Given the description of an element on the screen output the (x, y) to click on. 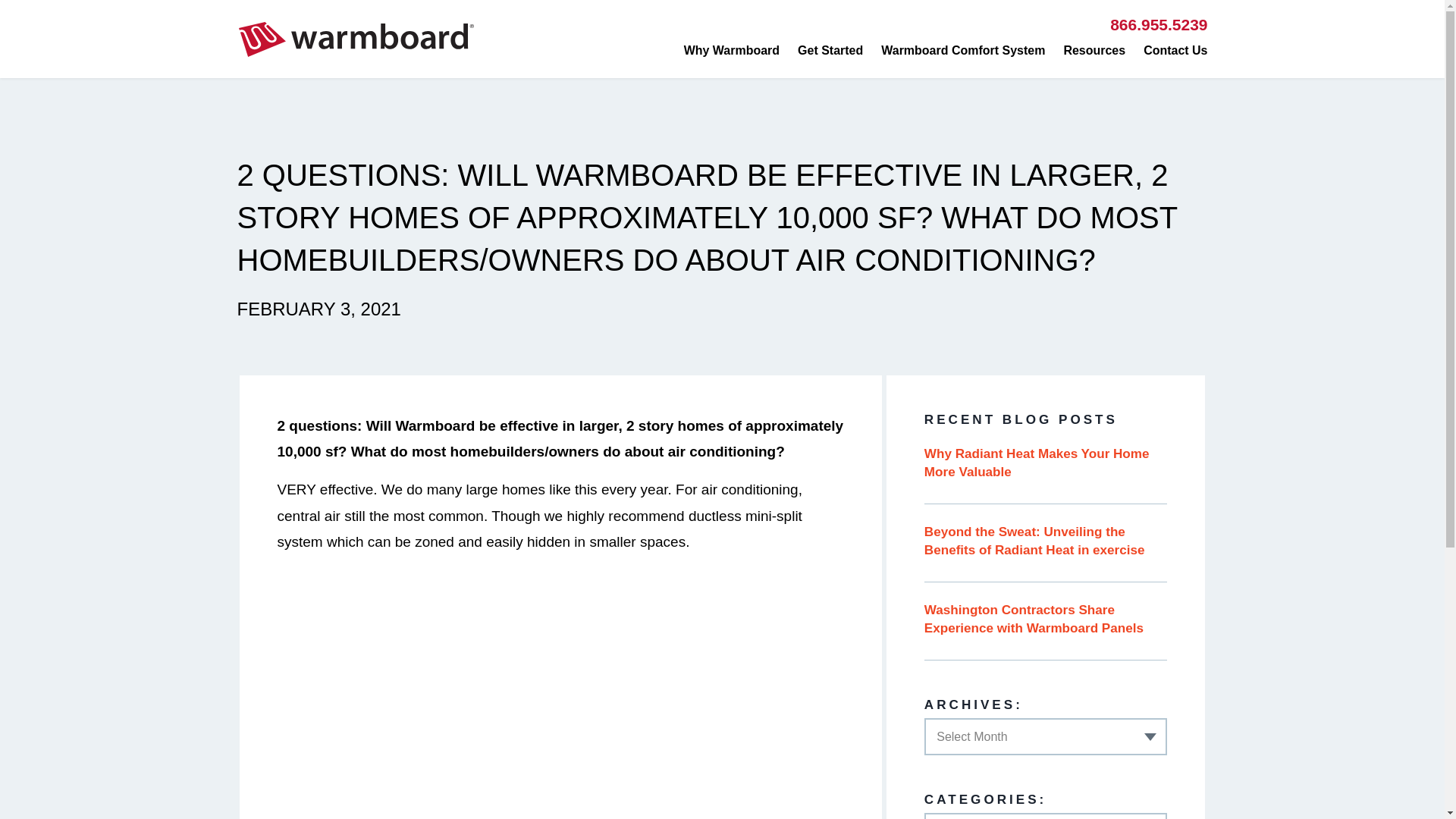
Get Started (830, 50)
866.955.5239 (1158, 24)
Why Warmboard (731, 50)
Select Month (1046, 736)
Warmboard, Inc (356, 39)
